Given the description of an element on the screen output the (x, y) to click on. 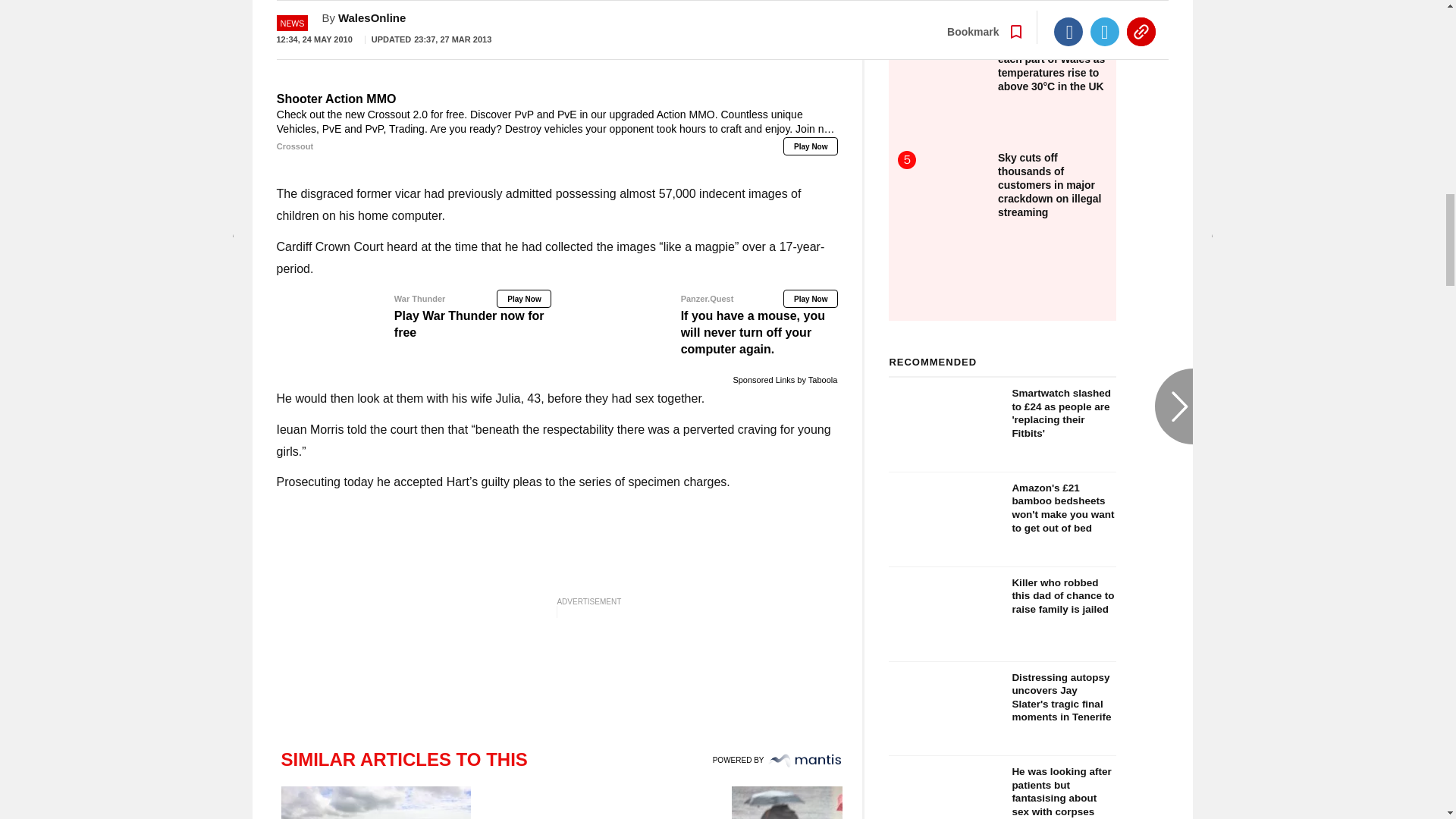
Play War Thunder now for free (413, 315)
Shooter Action MMO (557, 43)
Shooter Action MMO (557, 122)
